Given the description of an element on the screen output the (x, y) to click on. 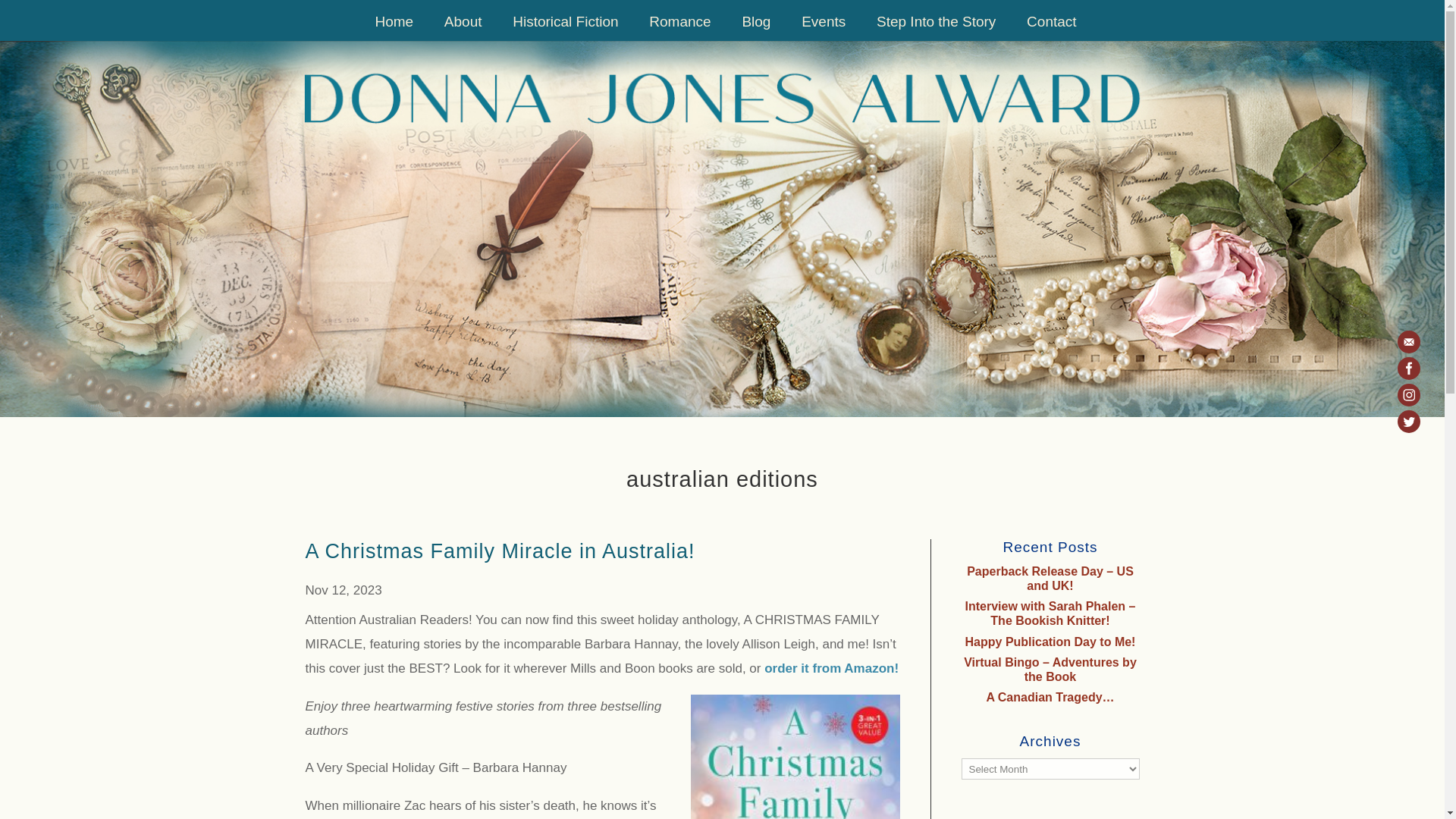
Step Into the Story (936, 28)
Contact (1051, 28)
Blog (756, 28)
order it from Amazon! (831, 667)
Events (822, 28)
Happy Publication Day to Me! (1051, 641)
Home (394, 28)
Romance (679, 28)
Historical Fiction (564, 28)
A Christmas Family Miracle in Australia! (499, 550)
About (463, 28)
